Given the description of an element on the screen output the (x, y) to click on. 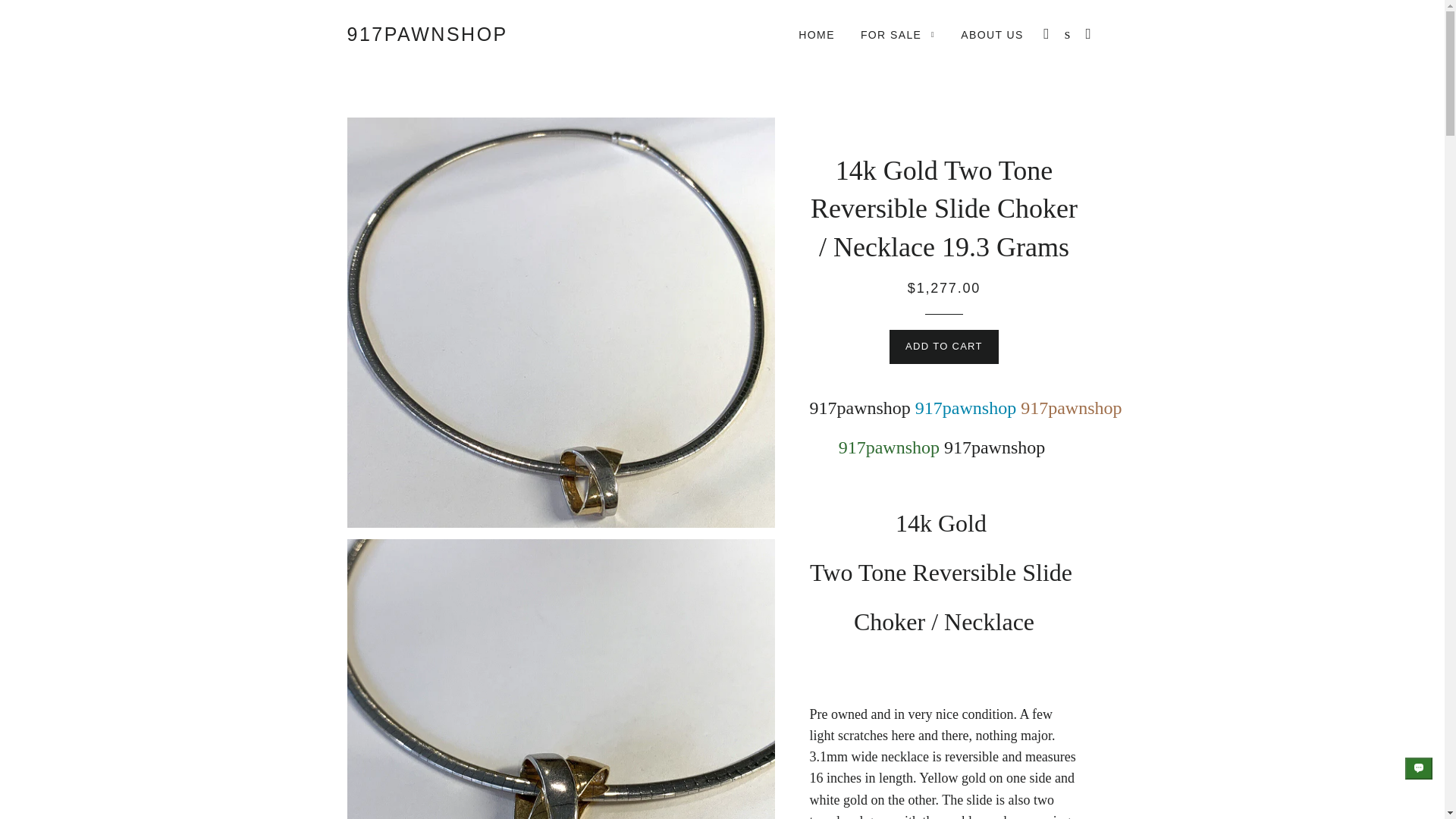
917PAWNSHOP (427, 34)
ABOUT US (992, 35)
FOR SALE (897, 35)
HOME (816, 35)
